Given the description of an element on the screen output the (x, y) to click on. 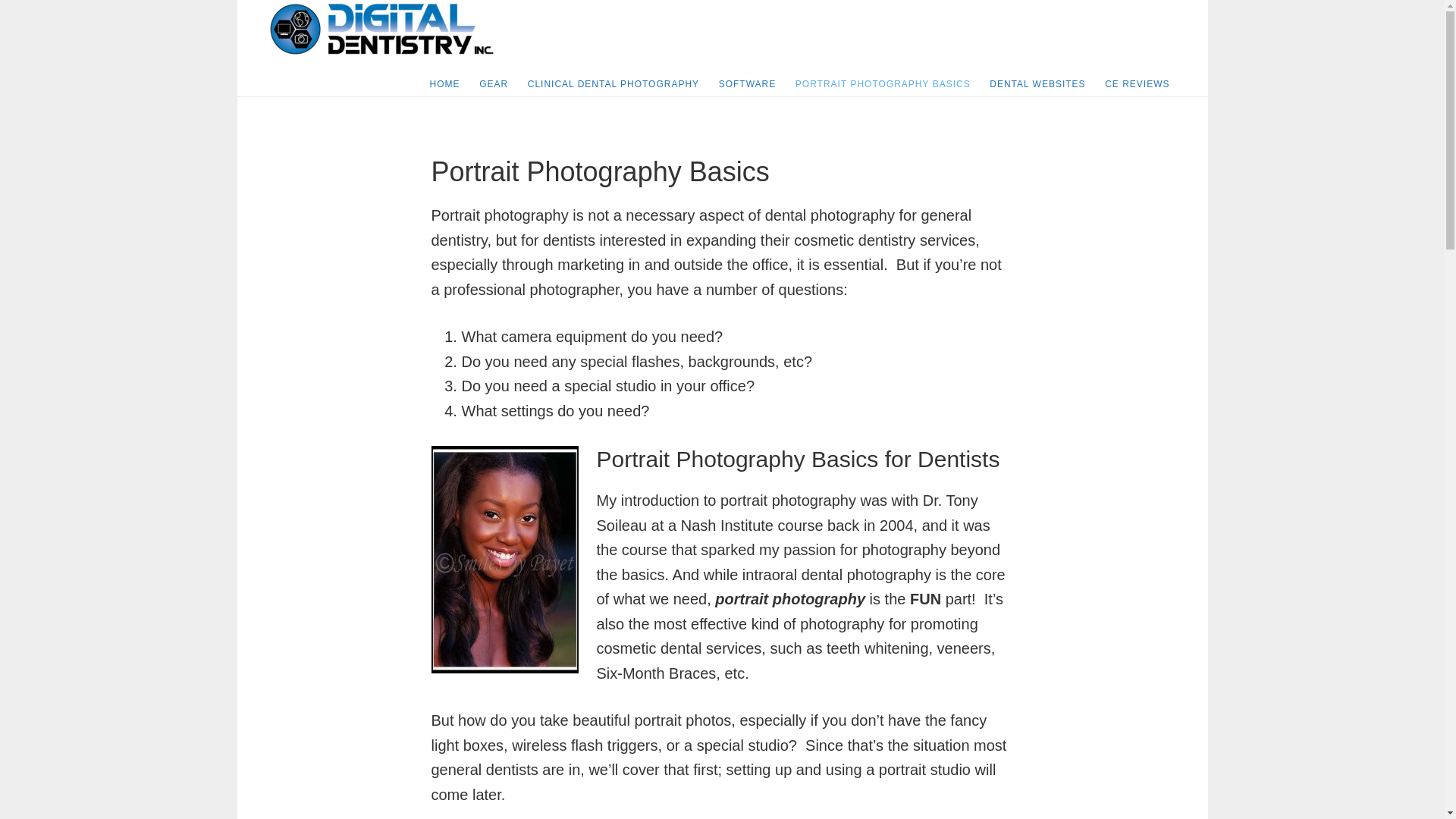
GEAR (493, 84)
SOFTWARE (747, 84)
CLINICAL DENTAL PHOTOGRAPHY (612, 84)
CE REVIEWS (1136, 84)
DIGITAL DENTAL PHOTOGRAPHY (380, 28)
HOME (444, 84)
PORTRAIT PHOTOGRAPHY BASICS (882, 84)
DENTAL WEBSITES (1037, 84)
